Given the description of an element on the screen output the (x, y) to click on. 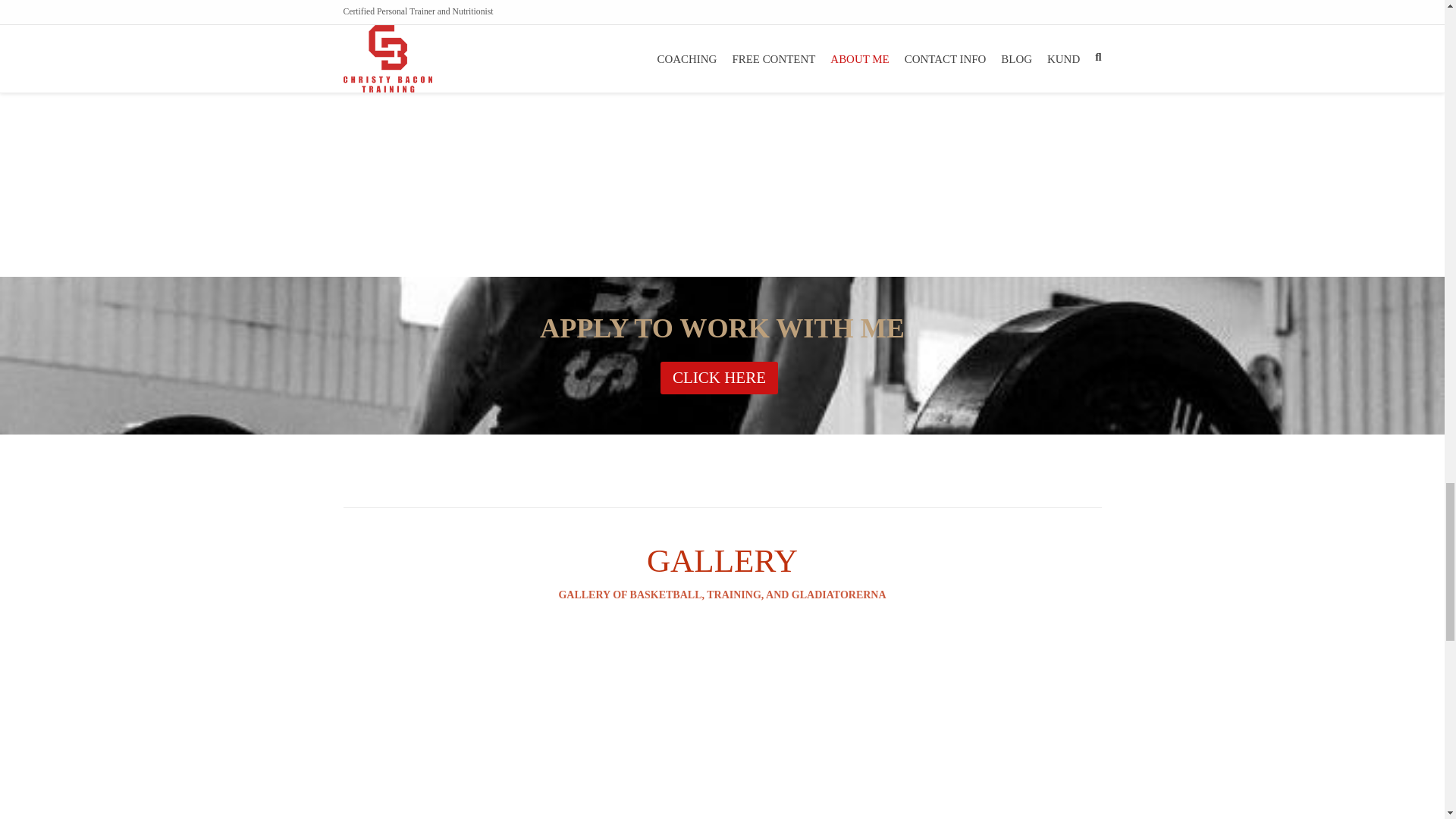
Contact Info (719, 377)
CLICK HERE (719, 377)
